Given the description of an element on the screen output the (x, y) to click on. 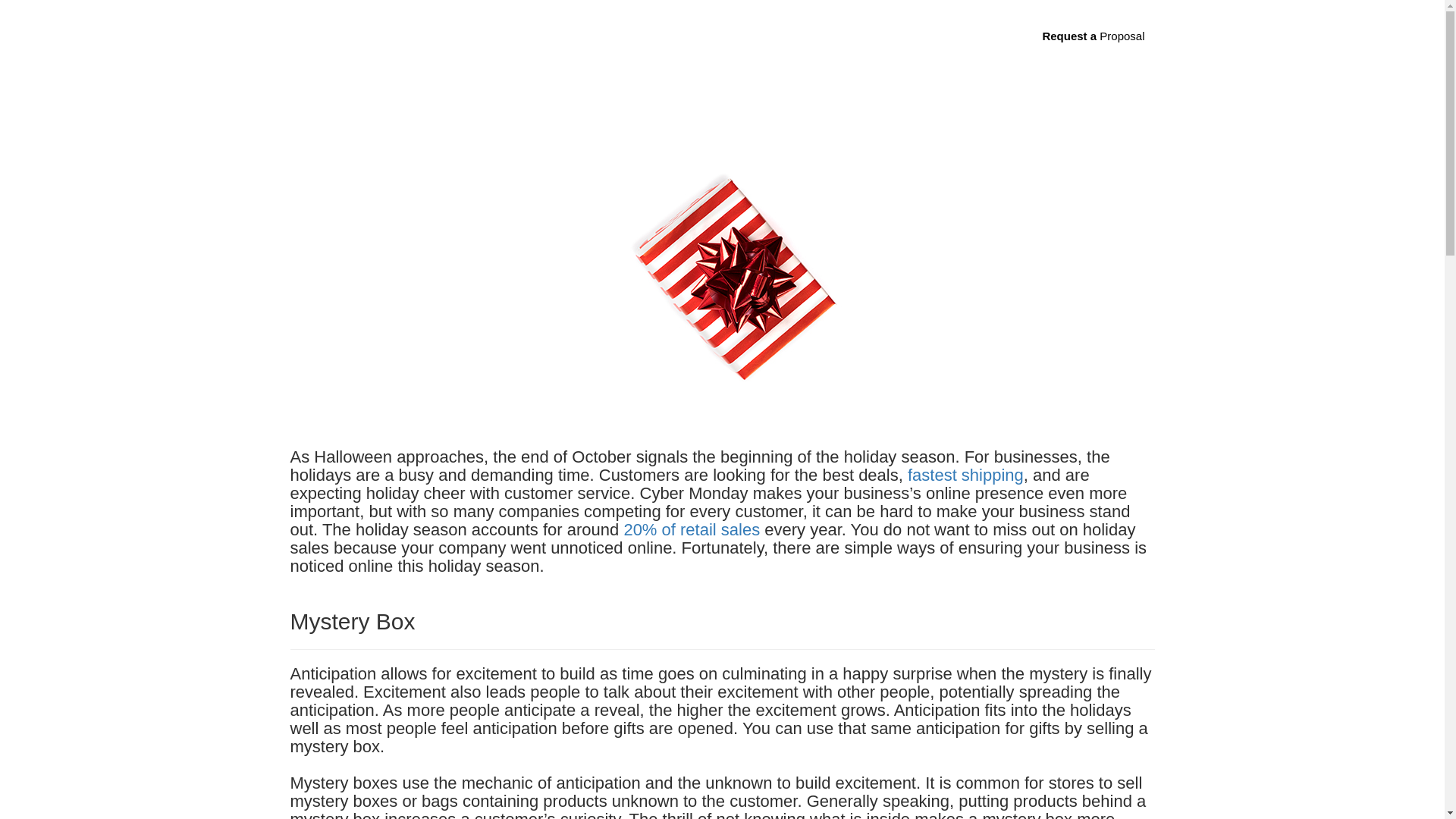
BrandDignity (377, 35)
WHAT WE DO (660, 36)
HOME (590, 36)
